Given the description of an element on the screen output the (x, y) to click on. 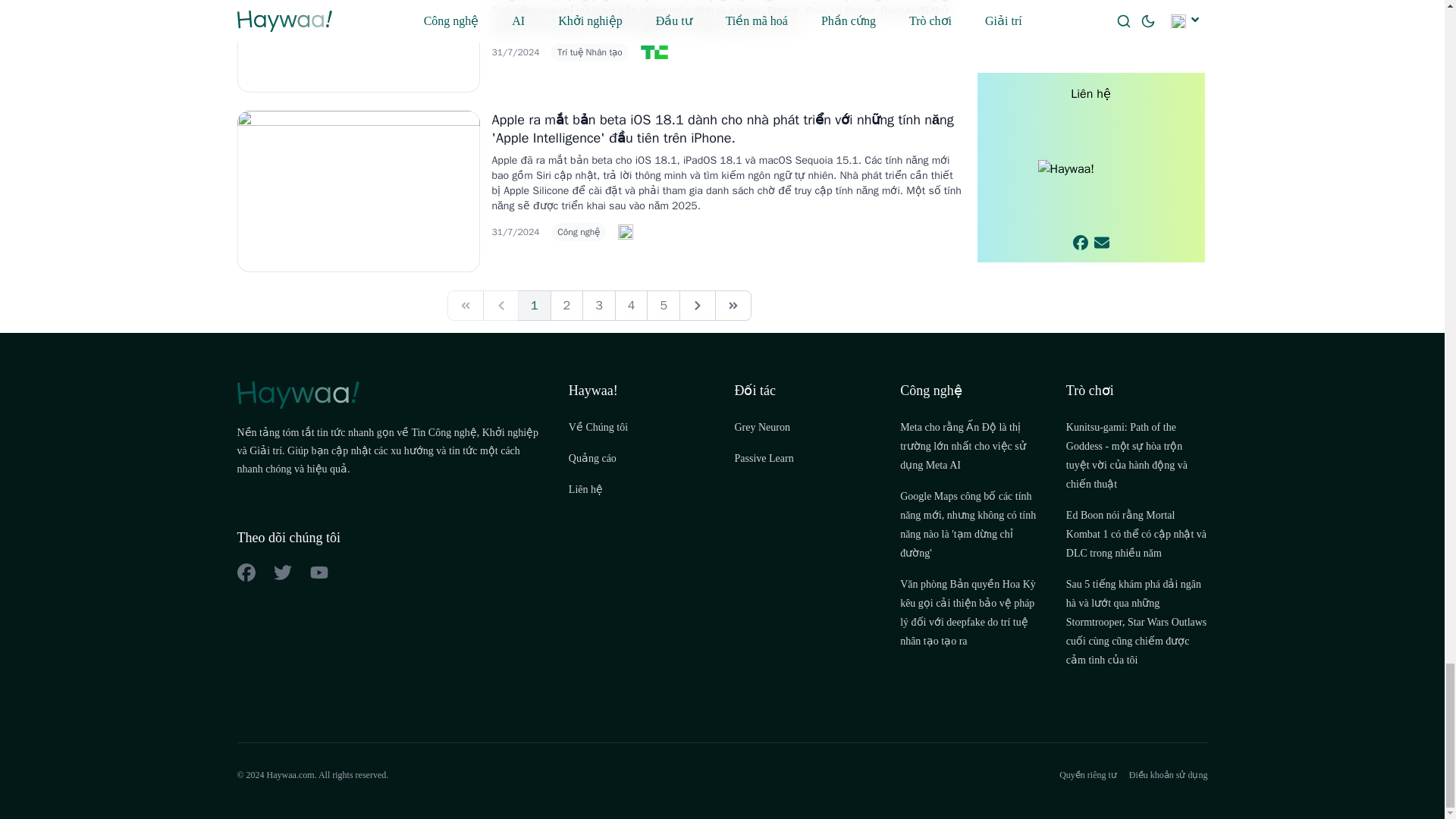
Grey Neuron (761, 427)
